Given the description of an element on the screen output the (x, y) to click on. 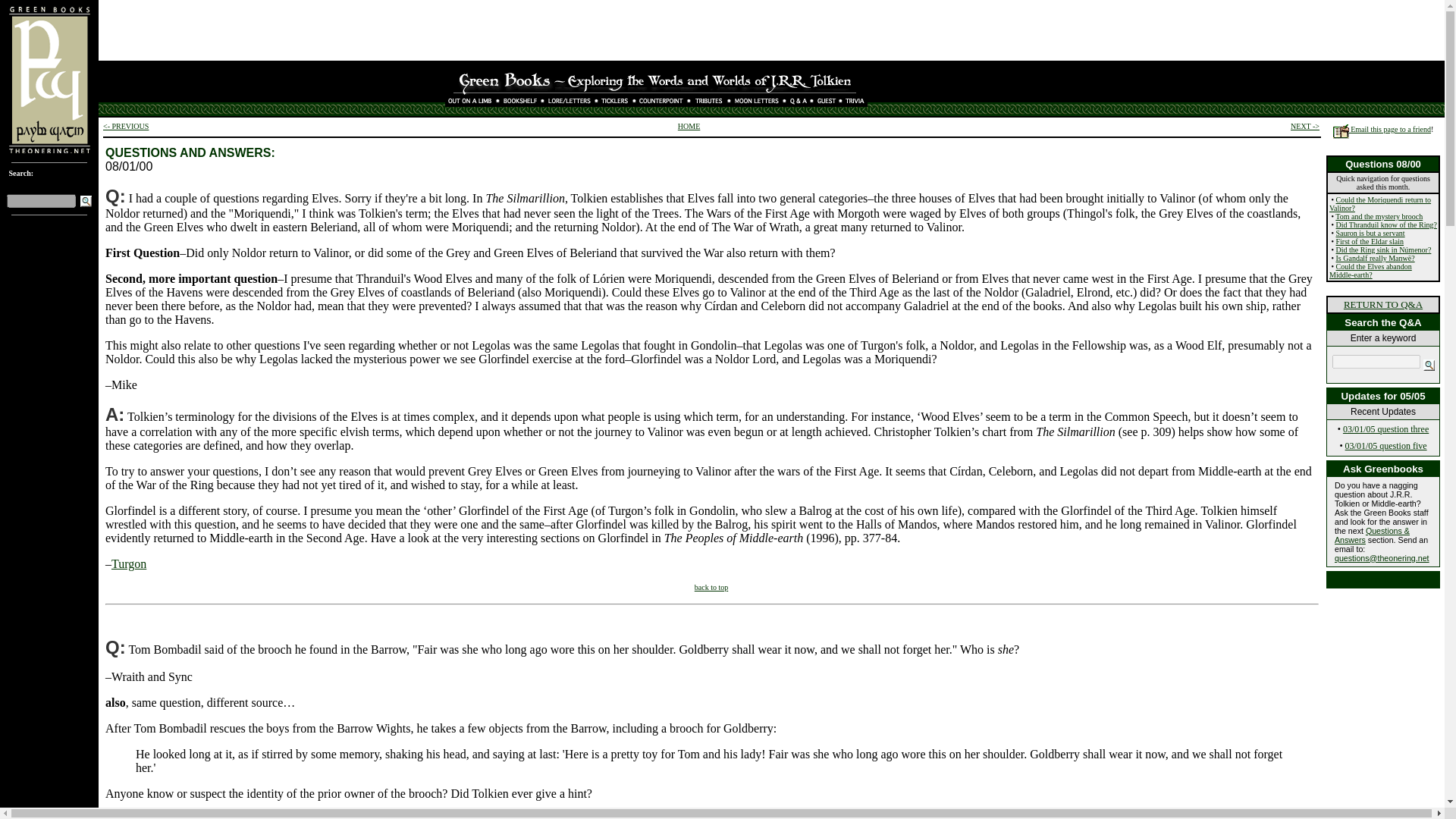
Did Thranduil know of the Ring? (1386, 224)
Turgon (129, 563)
Sauron is but a servant (1370, 233)
back to top (711, 587)
Tom and the mystery brooch (1378, 216)
HOME (689, 126)
Could the Moriquendi return to Valinor? (1380, 203)
Email this page to a friend (1382, 129)
First of the Eldar slain (1369, 241)
